Given the description of an element on the screen output the (x, y) to click on. 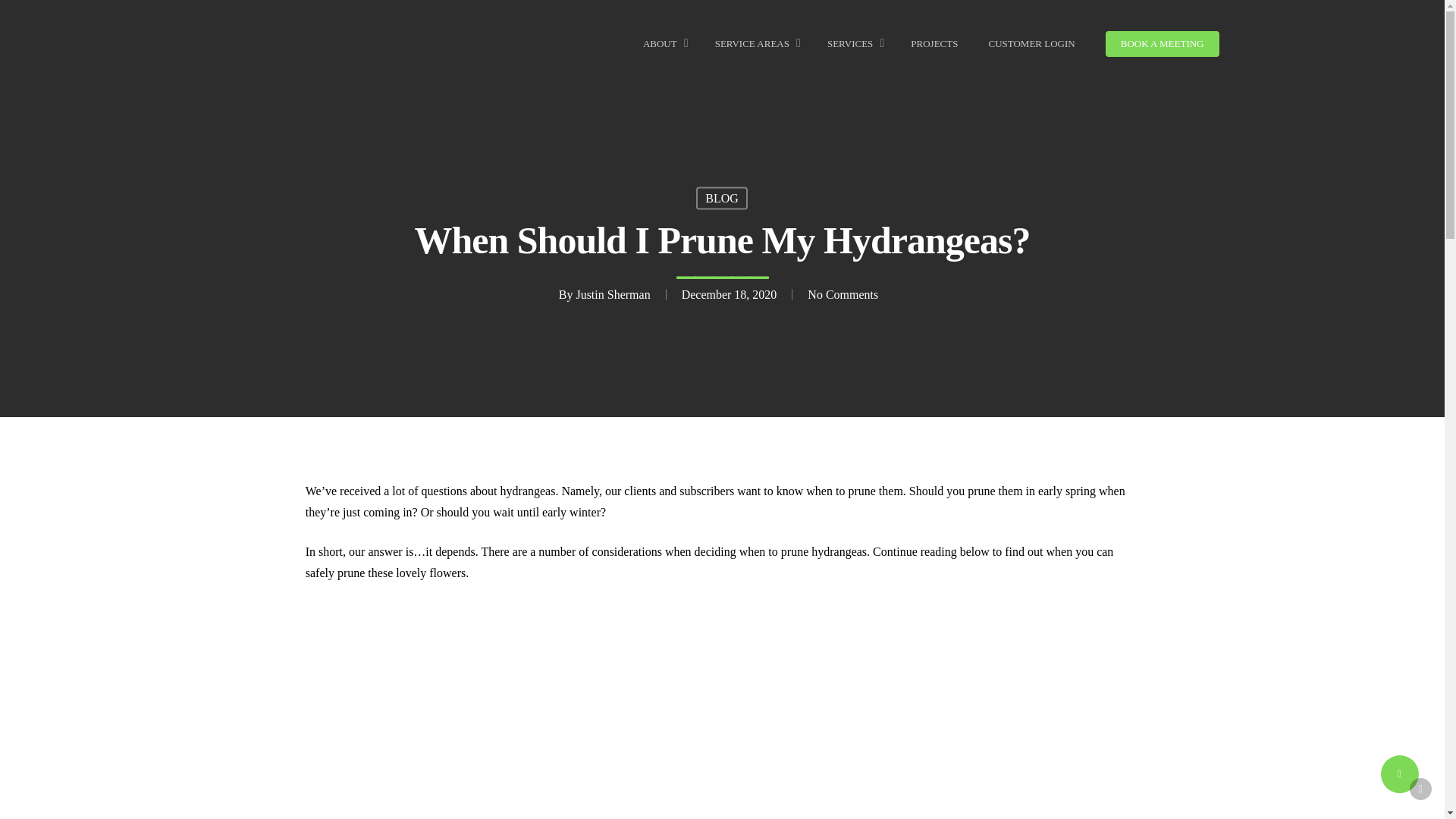
ABOUT (663, 43)
PROJECTS (934, 43)
No Comments (842, 294)
SERVICES (853, 43)
BLOG (721, 197)
SERVICE AREAS (755, 43)
BOOK A MEETING (1162, 43)
Posts by Justin Sherman (612, 294)
CUSTOMER LOGIN (1031, 43)
Justin Sherman (612, 294)
